Given the description of an element on the screen output the (x, y) to click on. 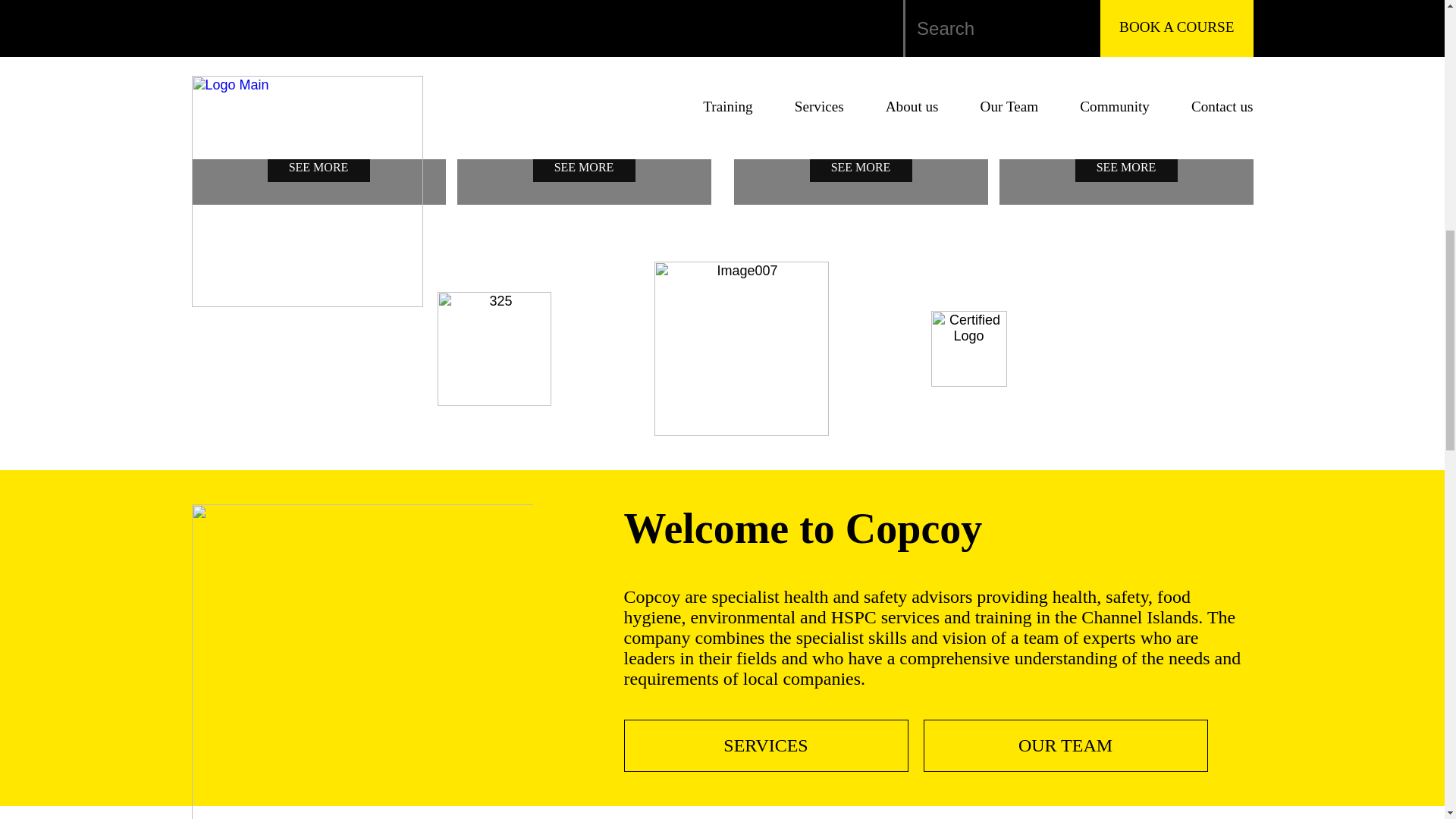
SERVICES (765, 745)
Our Team (1065, 745)
OUR TEAM (1065, 745)
Services (583, 130)
